Given the description of an element on the screen output the (x, y) to click on. 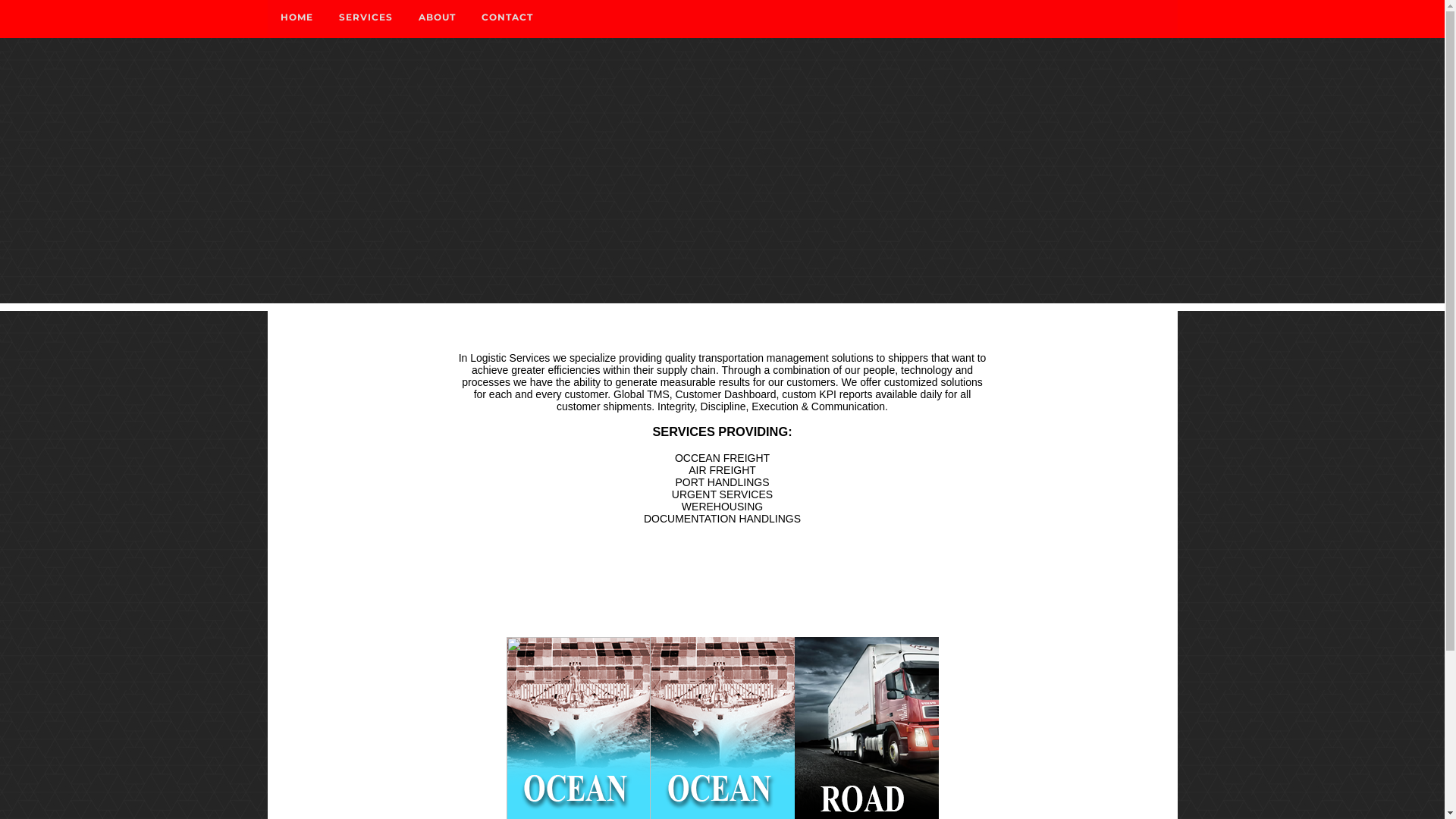
CONTACT Element type: text (507, 17)
HOME Element type: text (295, 17)
SERVICES Element type: text (365, 17)
ABOUT Element type: text (435, 17)
